Given the description of an element on the screen output the (x, y) to click on. 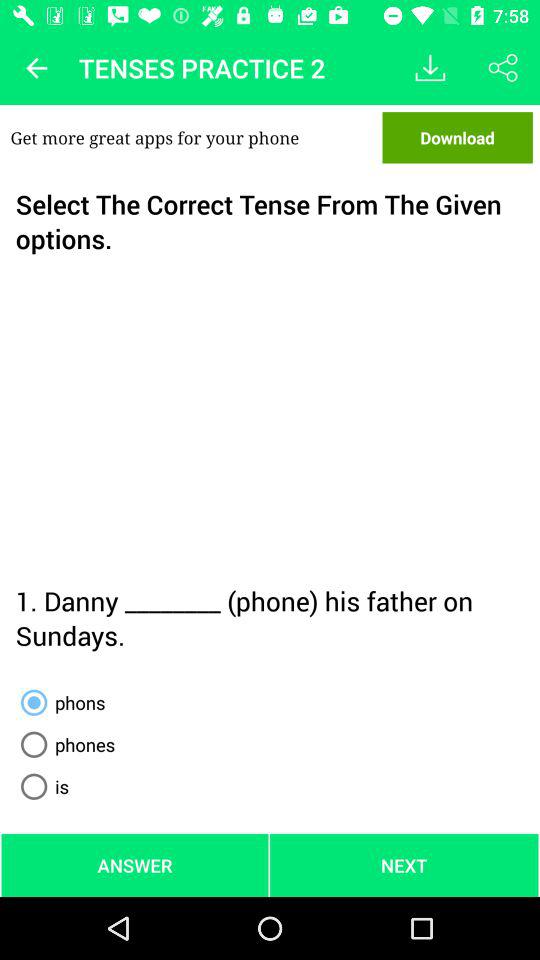
turn on the phones (64, 744)
